Given the description of an element on the screen output the (x, y) to click on. 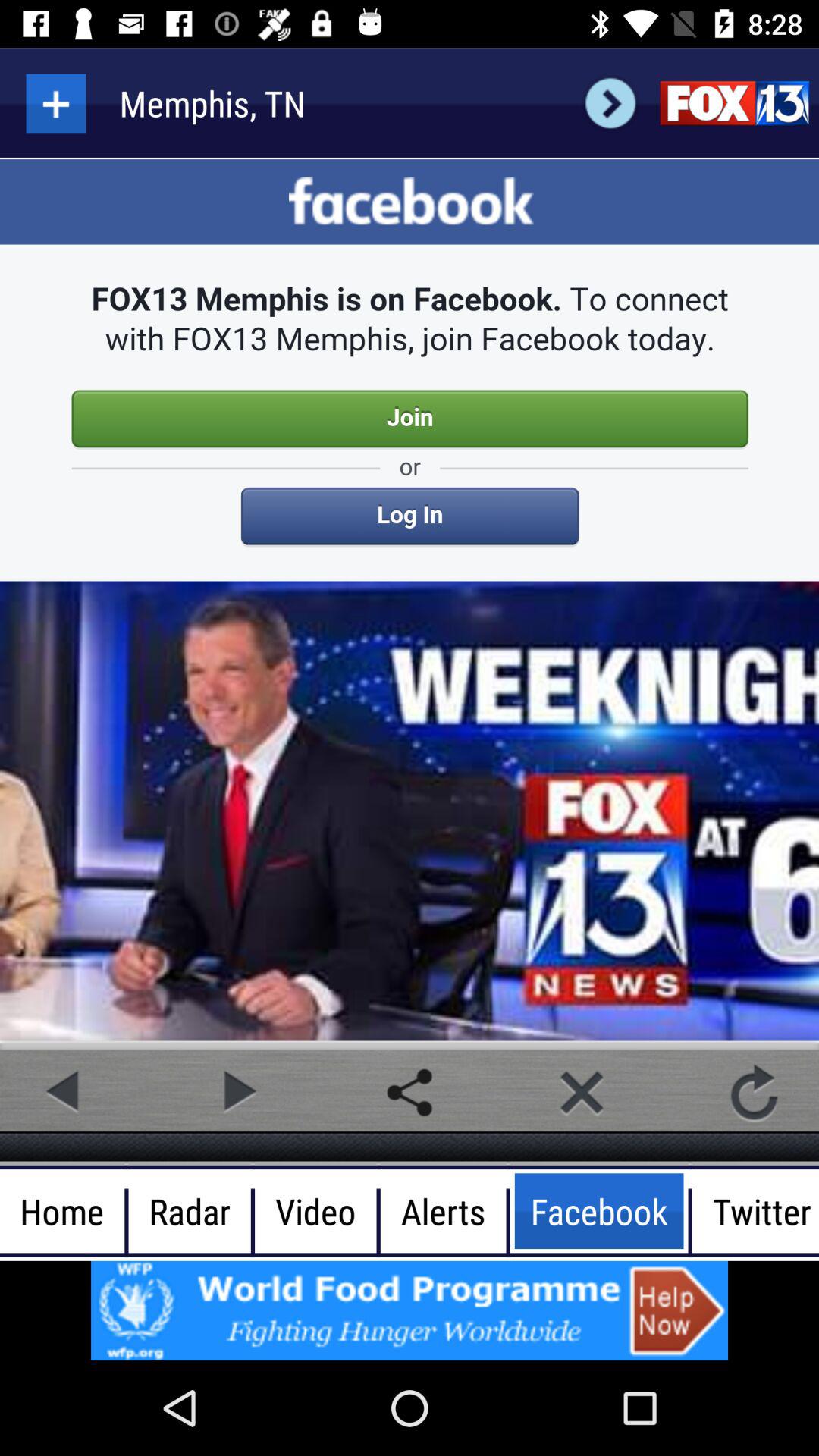
go back (64, 1092)
